Given the description of an element on the screen output the (x, y) to click on. 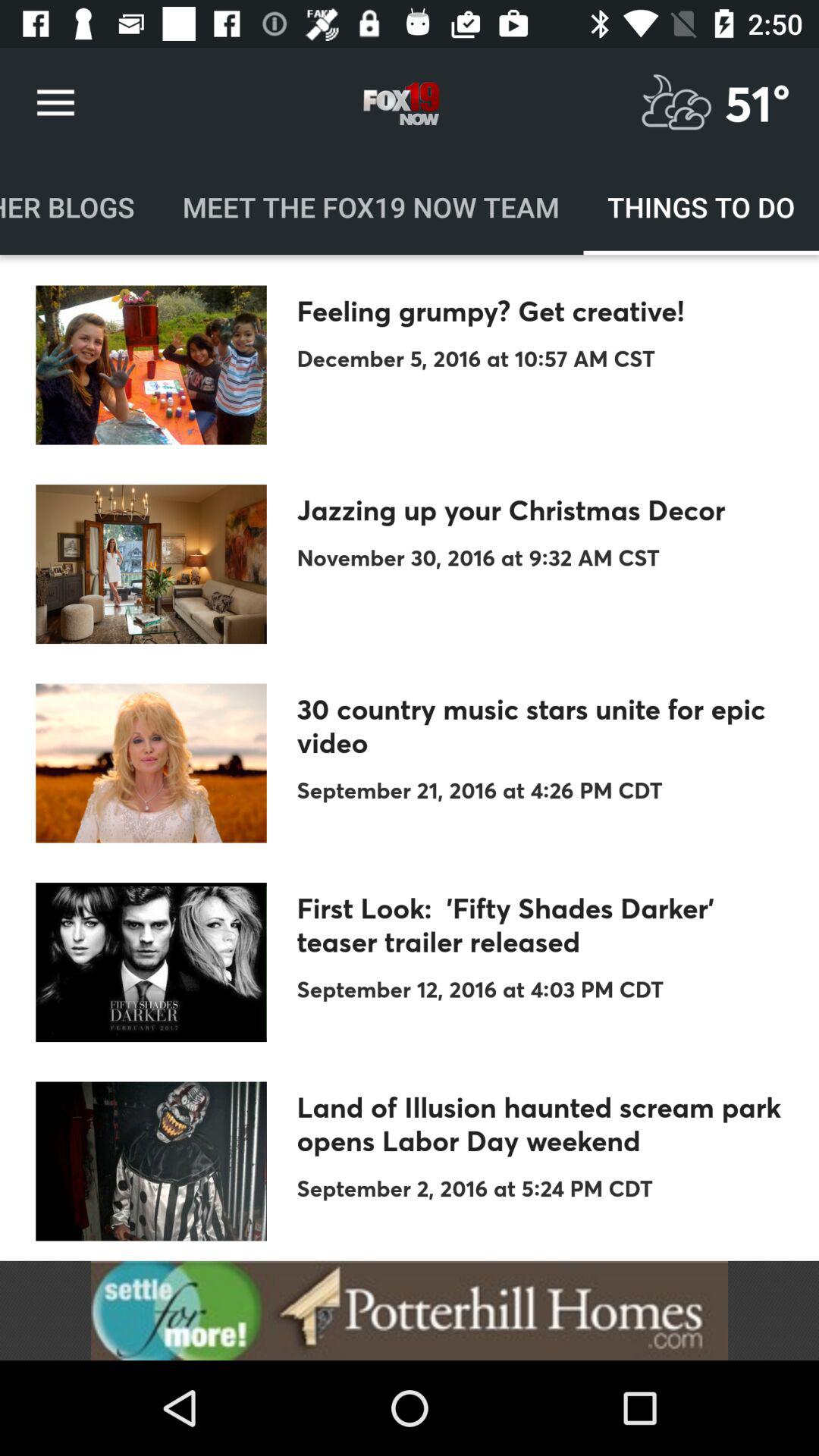
click here to check the weather (676, 103)
